Given the description of an element on the screen output the (x, y) to click on. 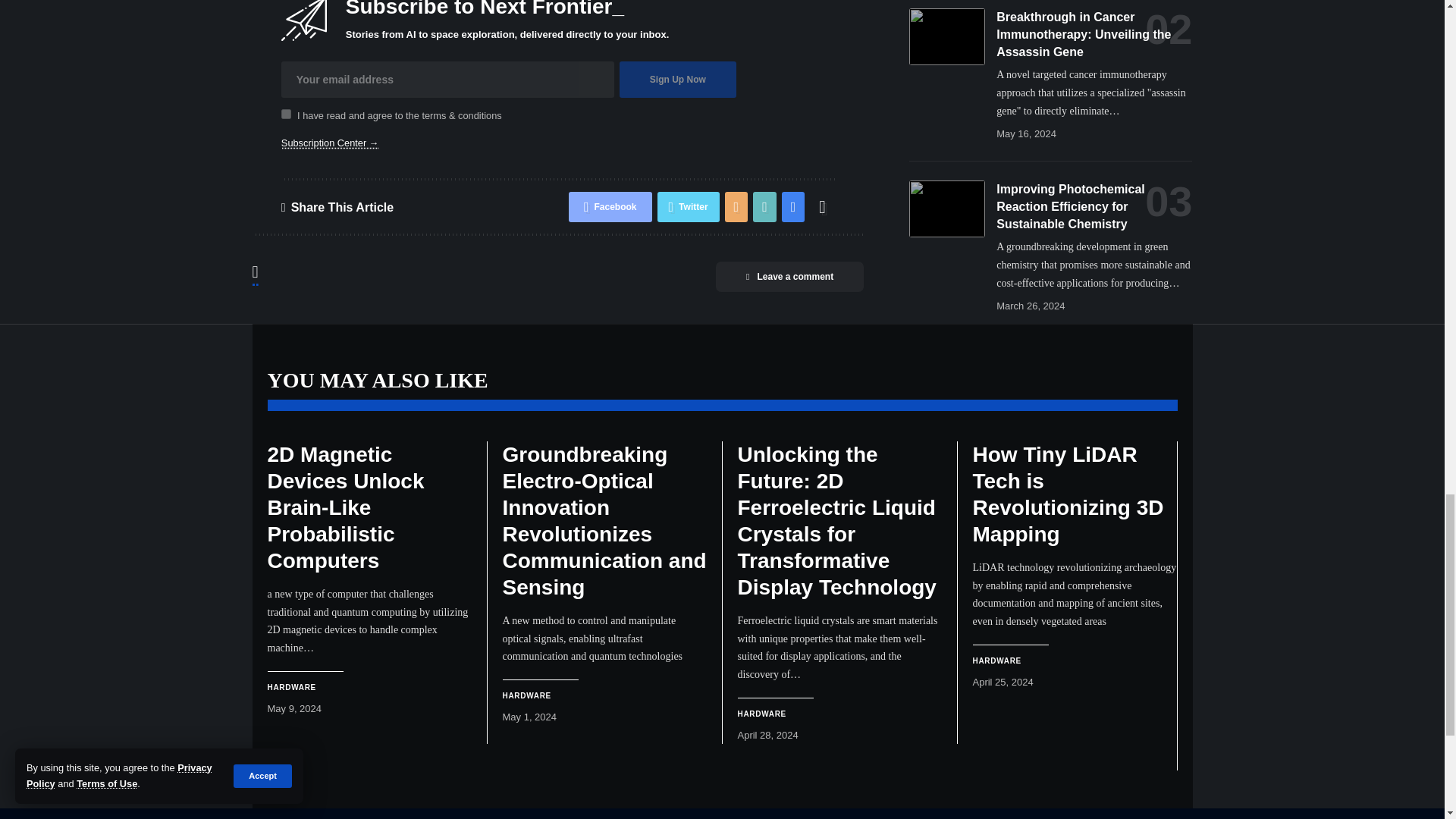
1 (286, 113)
Sign Up Now (678, 79)
